Given the description of an element on the screen output the (x, y) to click on. 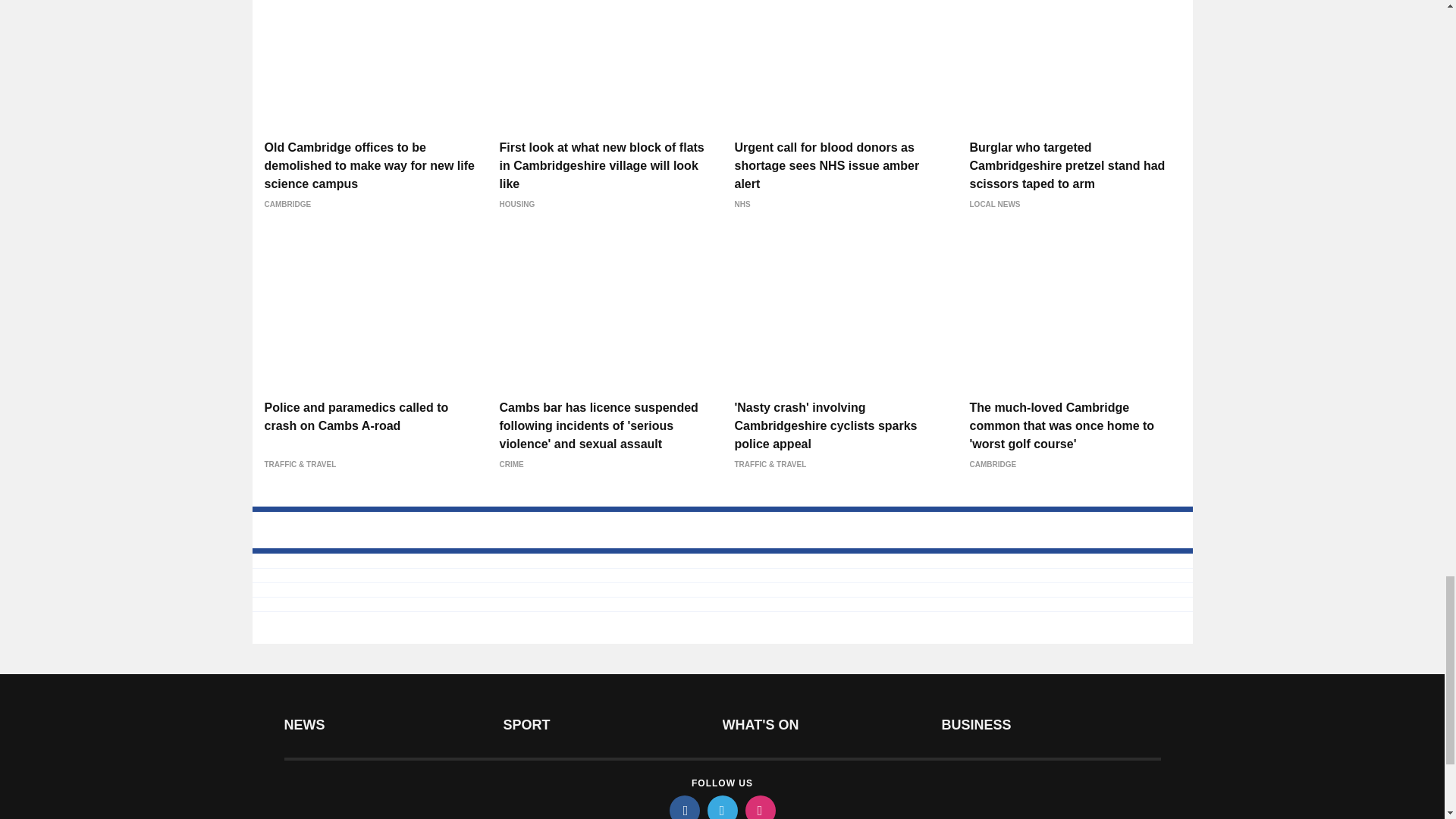
twitter (721, 807)
instagram (759, 807)
facebook (683, 807)
